Given the description of an element on the screen output the (x, y) to click on. 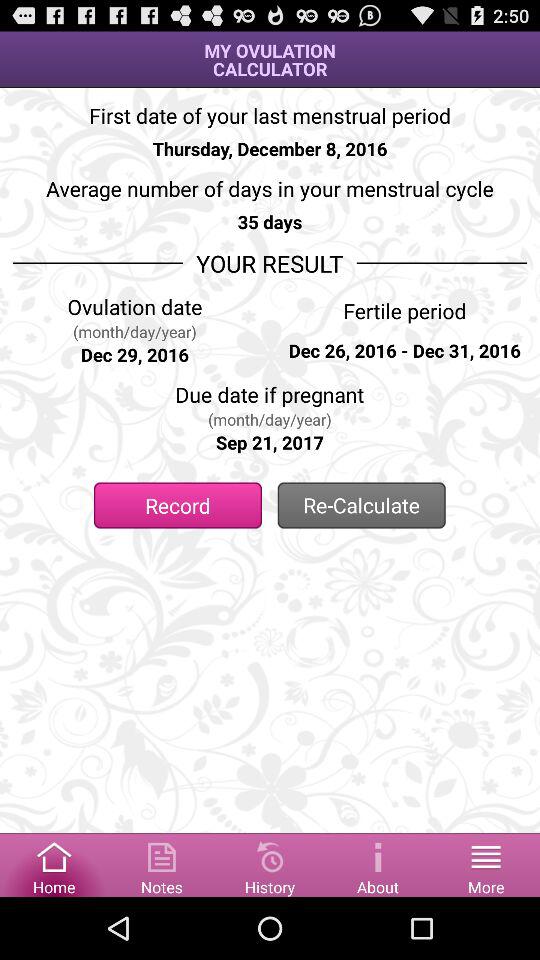
click to notes (162, 864)
